Given the description of an element on the screen output the (x, y) to click on. 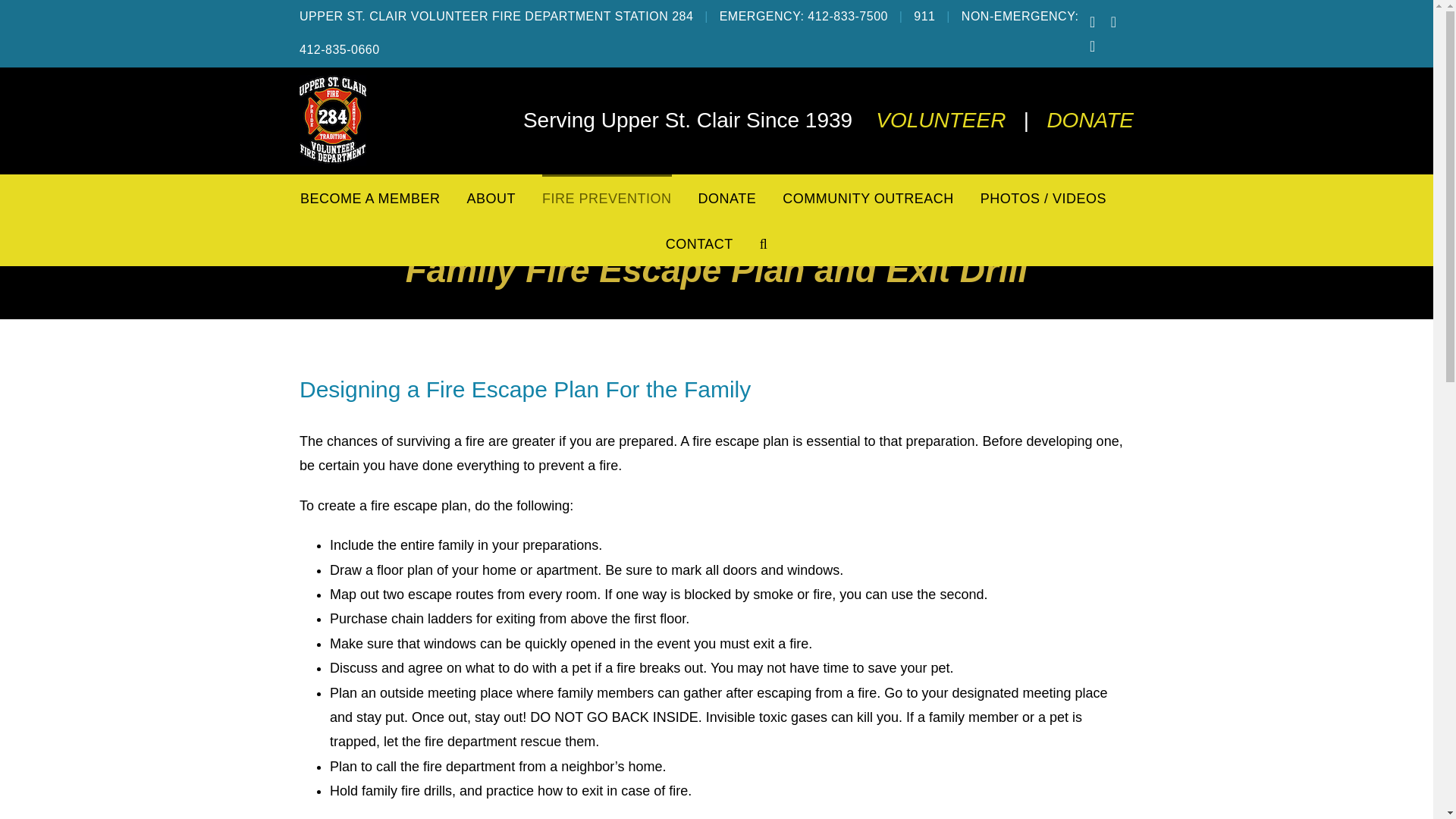
VOLUNTEER (941, 119)
DONATE (727, 197)
ABOUT (490, 197)
FIRE PREVENTION (606, 197)
BECOME A MEMBER (370, 197)
COMMUNITY OUTREACH (868, 197)
DONATE (1090, 119)
